Given the description of an element on the screen output the (x, y) to click on. 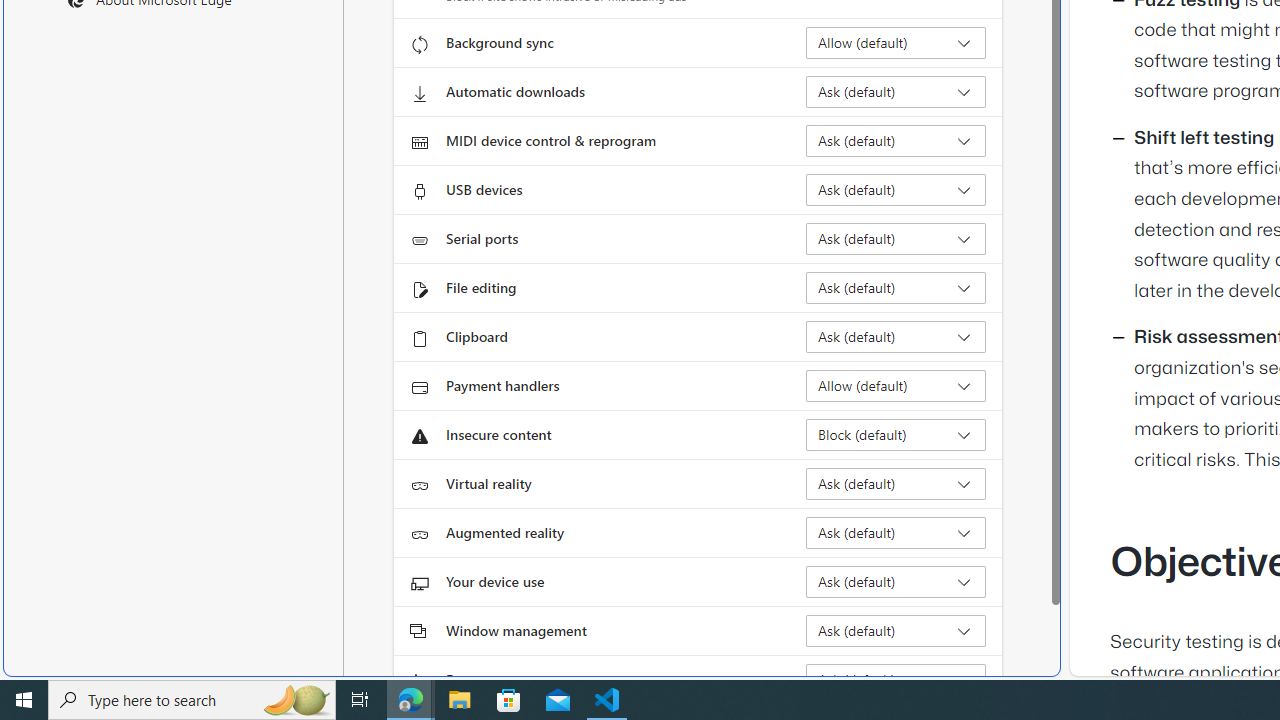
USB devices Ask (default) (895, 189)
MIDI device control & reprogram Ask (default) (895, 140)
Augmented reality Ask (default) (895, 532)
Serial ports Ask (default) (895, 238)
Background sync Allow (default) (895, 43)
Window management Ask (default) (895, 630)
Clipboard Ask (default) (895, 336)
Virtual reality Ask (default) (895, 483)
Insecure content Block (default) (895, 434)
Fonts Ask (default) (895, 679)
Automatic downloads Ask (default) (895, 92)
File editing Ask (default) (895, 287)
Payment handlers Allow (default) (895, 385)
Your device use Ask (default) (895, 581)
